Given the description of an element on the screen output the (x, y) to click on. 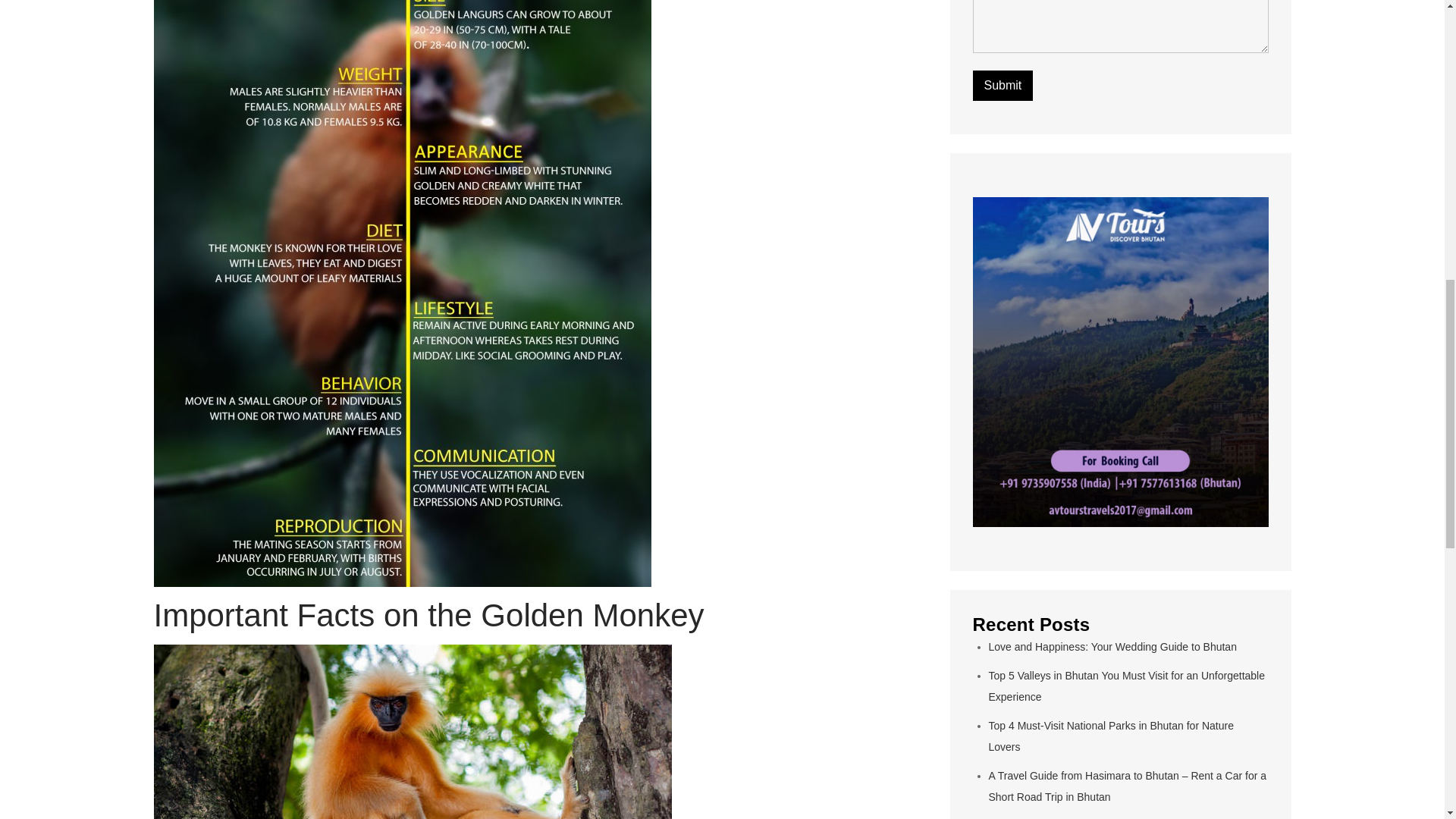
Love and Happiness: Your Wedding Guide to Bhutan (1112, 646)
Top 4 Must-Visit National Parks in Bhutan for Nature Lovers (1110, 735)
Submit (1002, 85)
Submit (1002, 85)
